Given the description of an element on the screen output the (x, y) to click on. 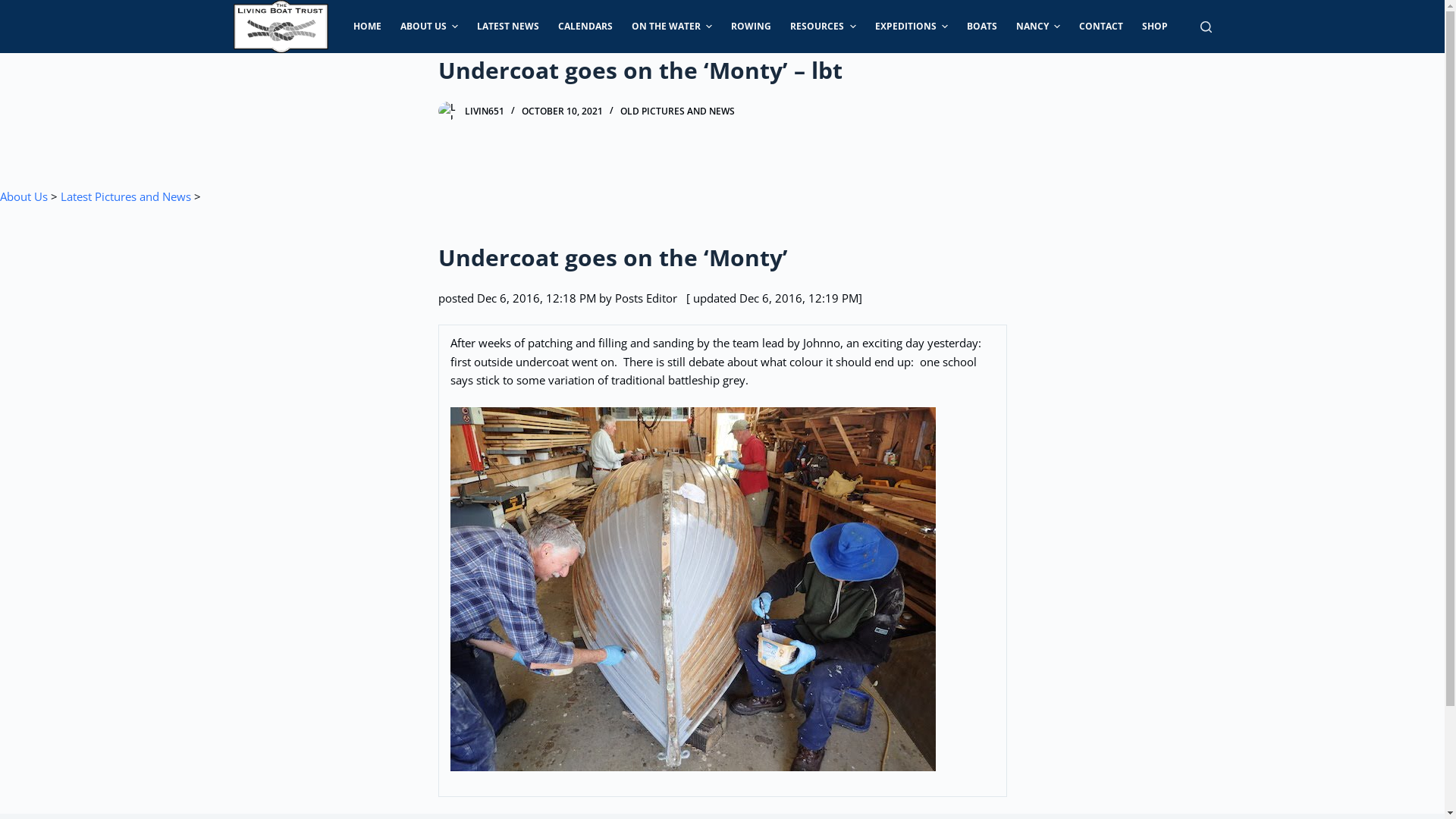
HOME Element type: text (366, 26)
OLD PICTURES AND NEWS Element type: text (677, 110)
SHOP Element type: text (1154, 26)
CALENDARS Element type: text (584, 26)
ROWING Element type: text (751, 26)
ON THE WATER Element type: text (671, 26)
LATEST NEWS Element type: text (507, 26)
CONTACT Element type: text (1101, 26)
About Us Element type: text (23, 195)
Latest Pictures and News Element type: text (125, 195)
RESOURCES Element type: text (823, 26)
ABOUT US Element type: text (428, 26)
EXPEDITIONS Element type: text (911, 26)
Skip to content Element type: text (15, 7)
LIVIN651 Element type: text (483, 110)
BOATS Element type: text (982, 26)
NANCY Element type: text (1038, 26)
